Given the description of an element on the screen output the (x, y) to click on. 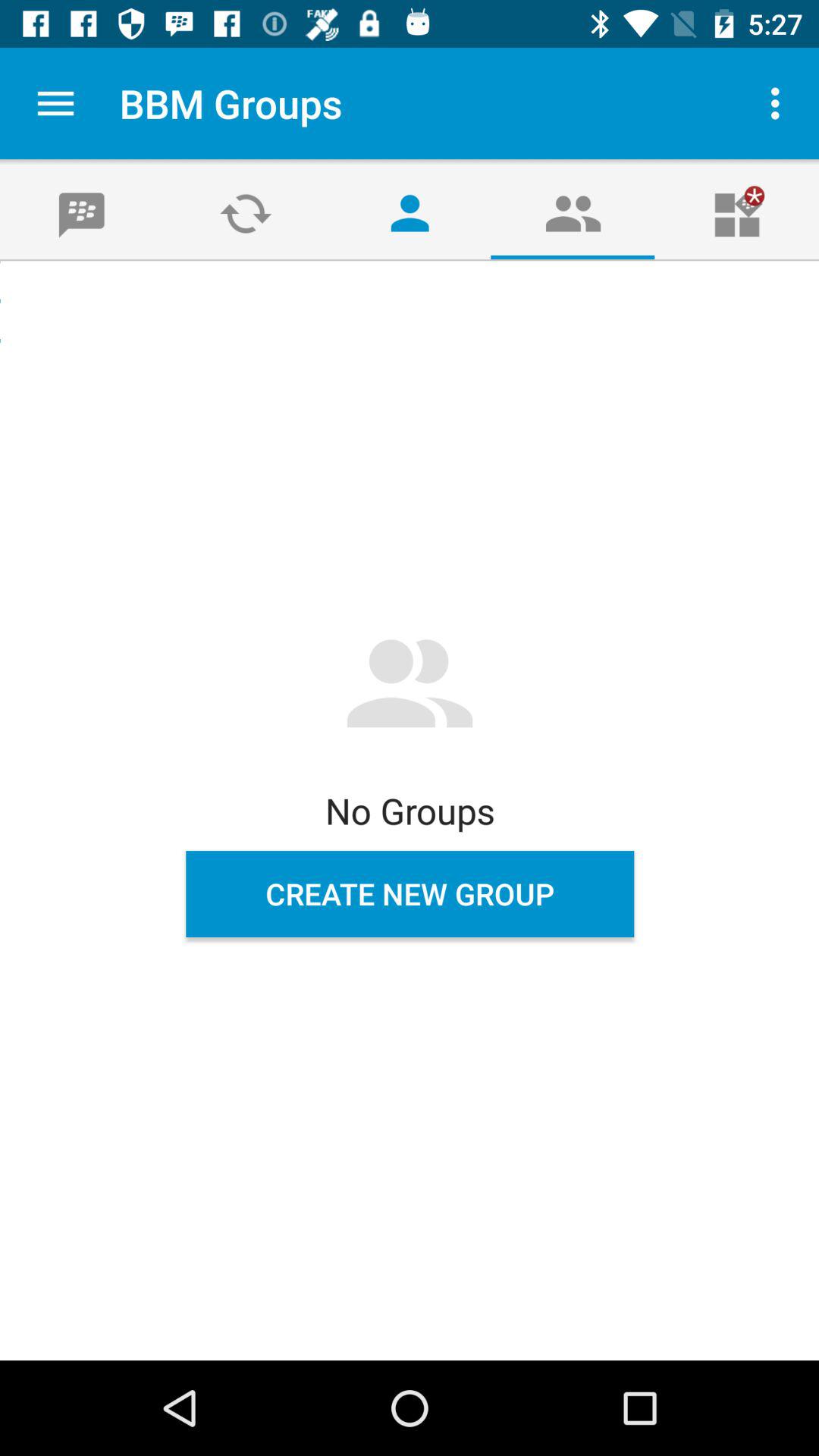
click on group icon (573, 212)
click on the create new group button (409, 893)
